Given the description of an element on the screen output the (x, y) to click on. 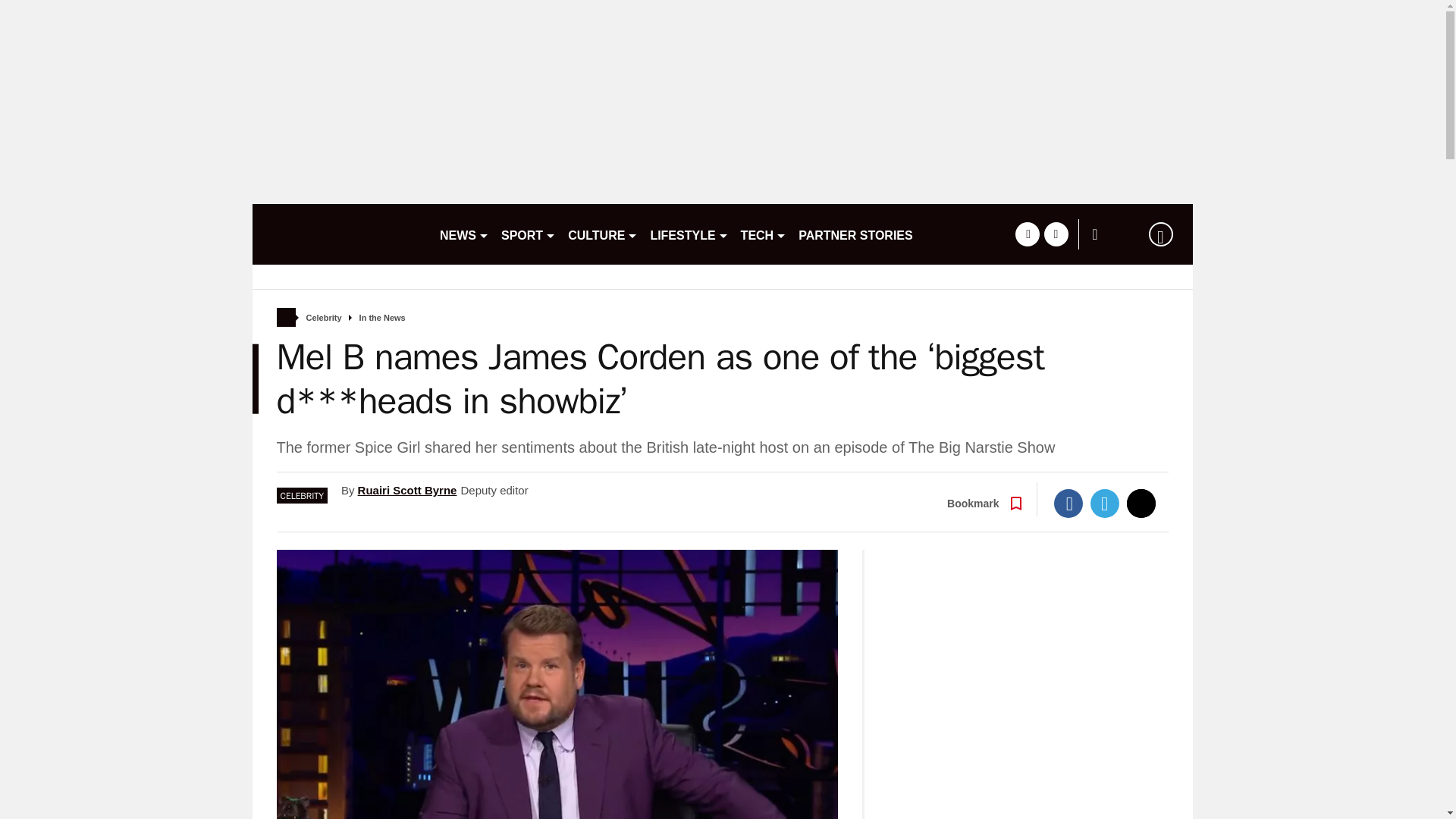
NEWS (464, 233)
twitter (1055, 233)
LIFESTYLE (688, 233)
SPORT (528, 233)
CULTURE (602, 233)
PARTNER STORIES (855, 233)
facebook (1026, 233)
Twitter (1104, 502)
Facebook (1068, 502)
buzz (338, 233)
TECH (764, 233)
